Given the description of an element on the screen output the (x, y) to click on. 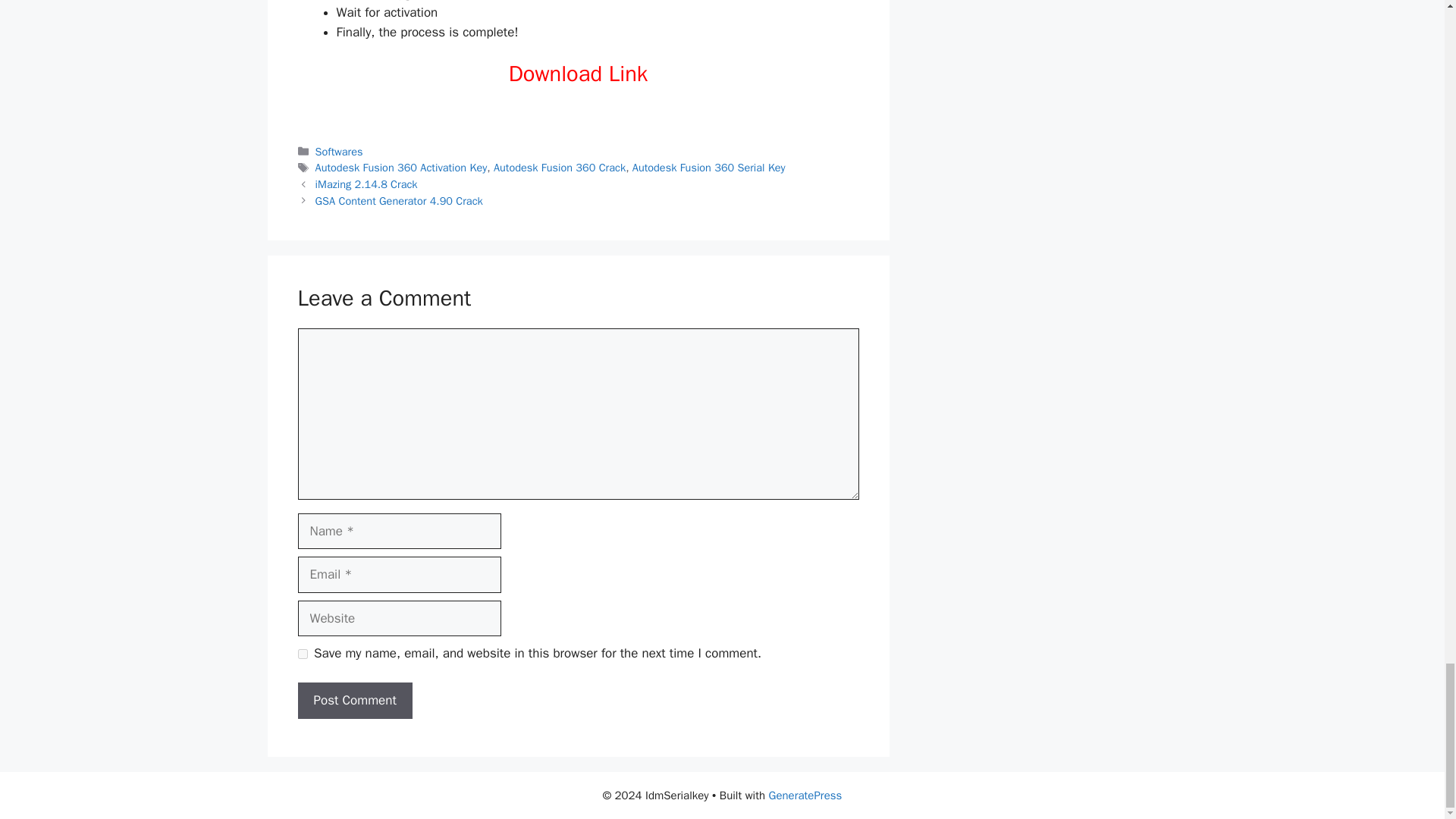
Softwares (338, 151)
yes (302, 654)
Autodesk Fusion 360 Activation Key (401, 167)
Post Comment (354, 700)
Previous (366, 183)
Download Link (577, 73)
Next (399, 201)
